Given the description of an element on the screen output the (x, y) to click on. 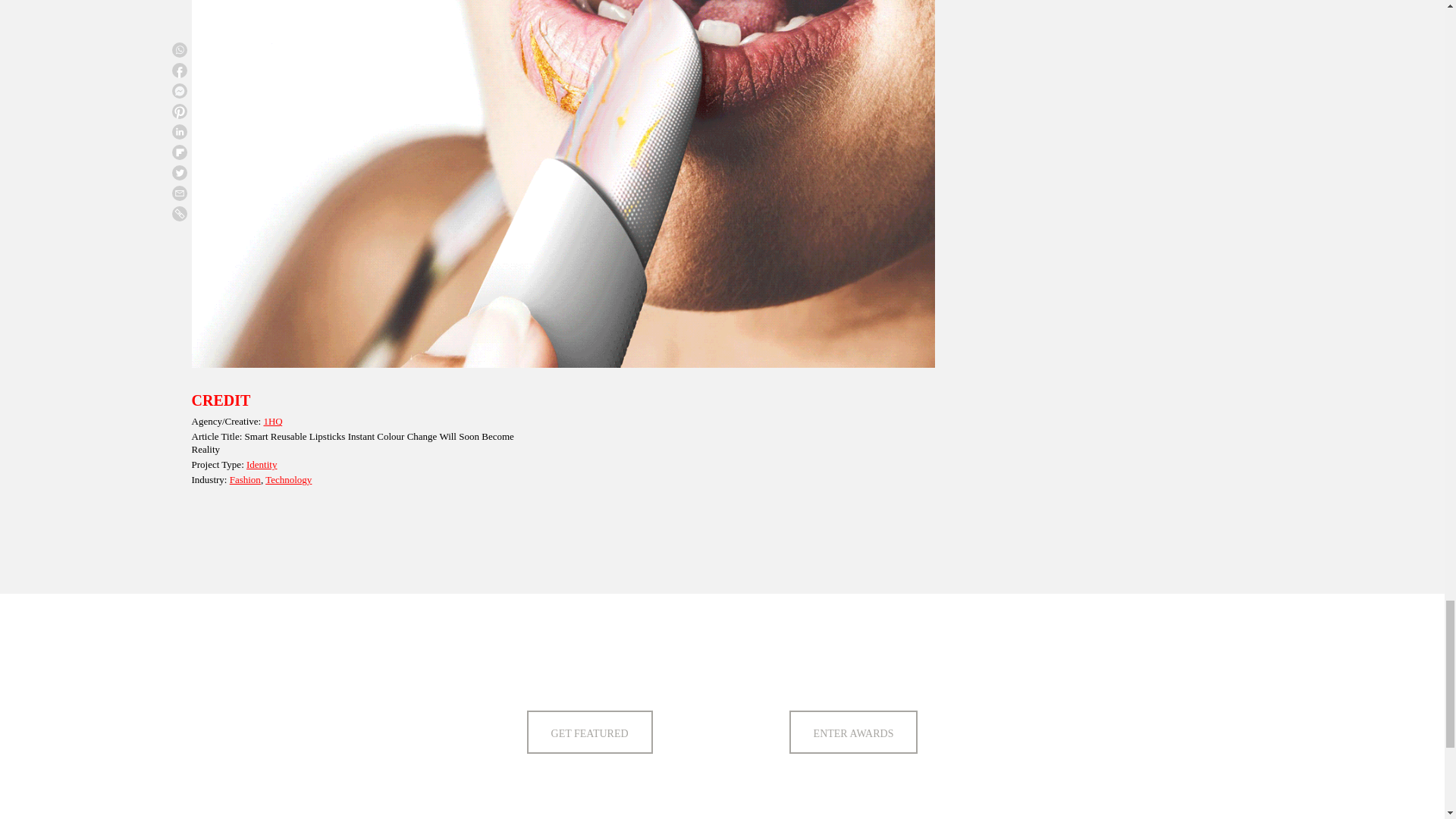
Identity (261, 464)
1HQ (272, 420)
Fashion (245, 479)
Technology (287, 479)
